Given the description of an element on the screen output the (x, y) to click on. 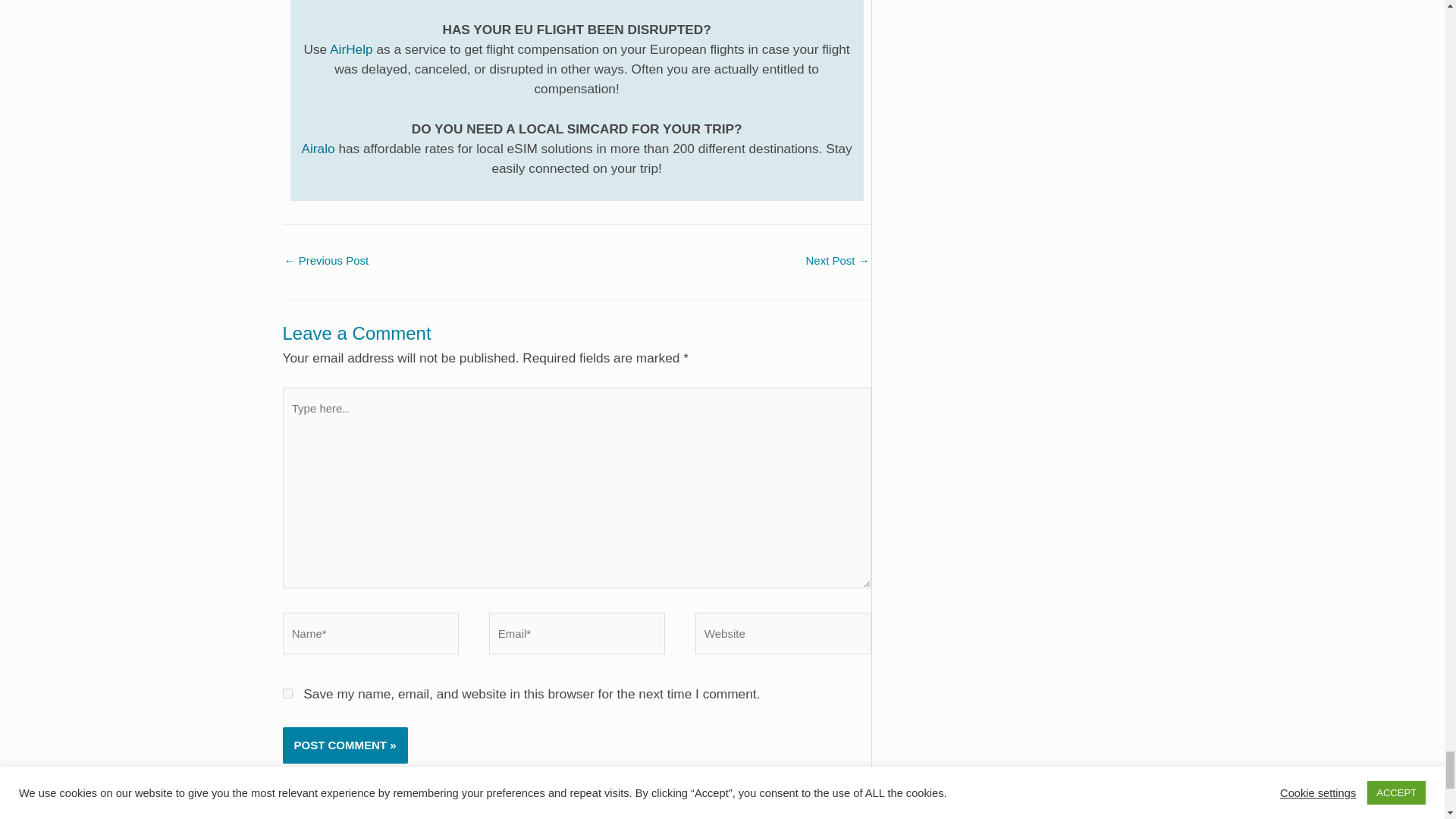
yes (287, 693)
